Given the description of an element on the screen output the (x, y) to click on. 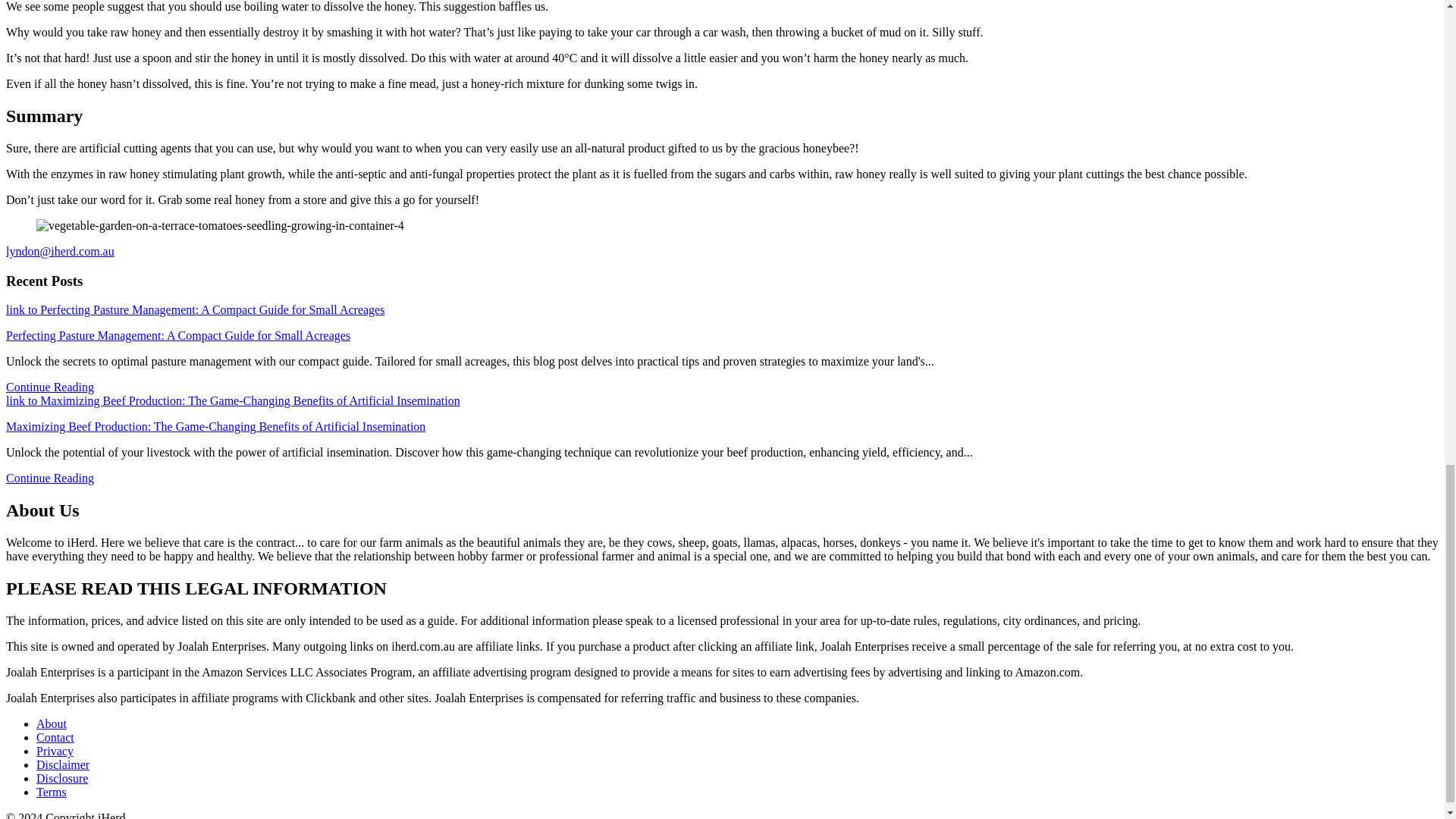
Continue Reading (49, 386)
Disclosure (61, 778)
Privacy (55, 750)
Contact (55, 737)
Continue Reading (49, 477)
Terms (51, 791)
About (51, 723)
Disclaimer (62, 764)
